Given the description of an element on the screen output the (x, y) to click on. 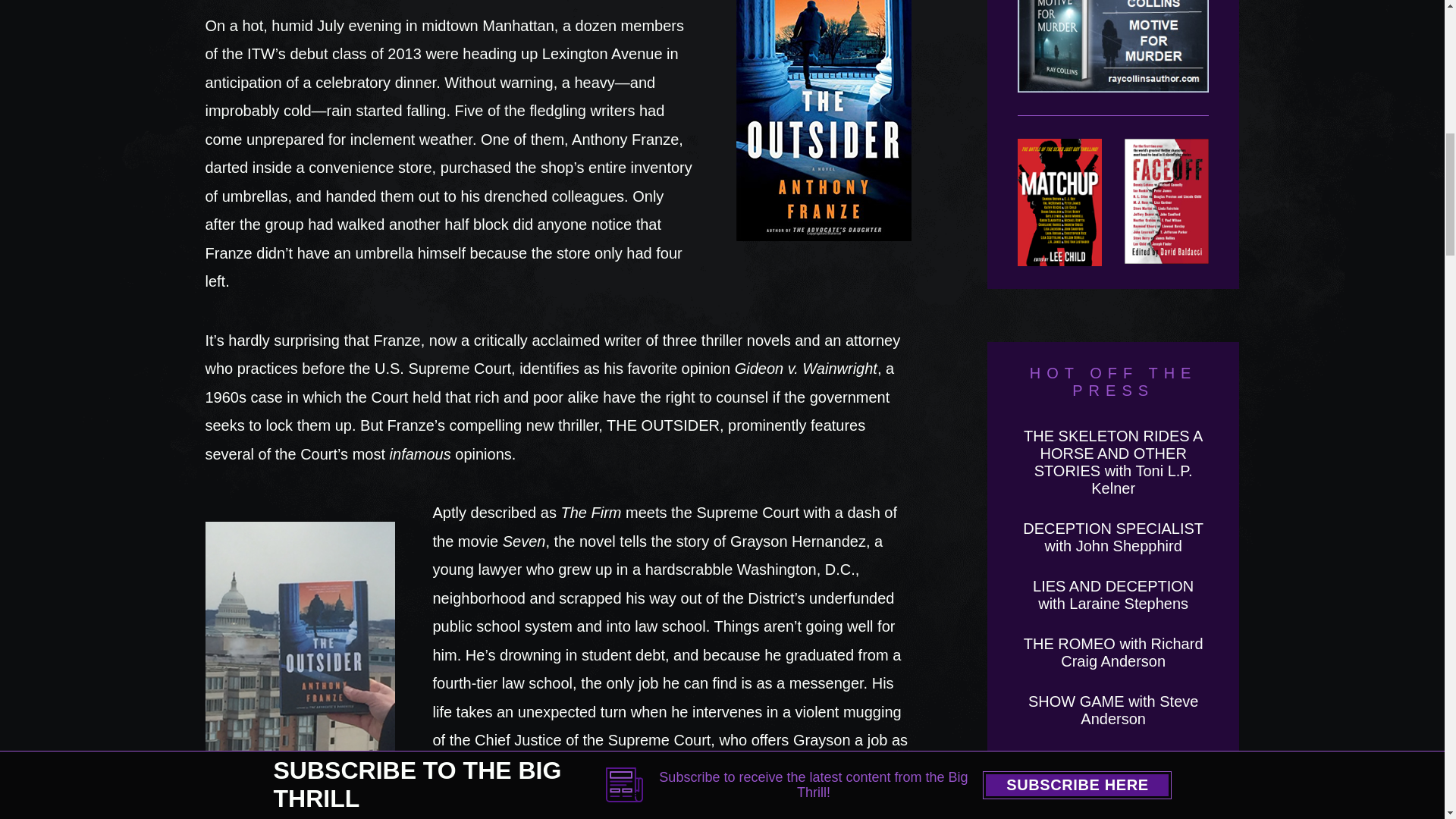
FACEOFF! In Stores Now! (1166, 202)
Esme Addison (1112, 759)
THE ROMEO with Richard Craig Anderson (1113, 652)
MATCH UP! In Stores Now! (1059, 202)
Motive for Murder by Ray Collins (1113, 58)
SHOW GAME with Steve Anderson (1112, 709)
DECEPTION SPECIALIST with John Shepphird (1113, 537)
LIES AND DECEPTION with Laraine Stephens (1112, 594)
Margot Douaihy (1113, 799)
